Given the description of an element on the screen output the (x, y) to click on. 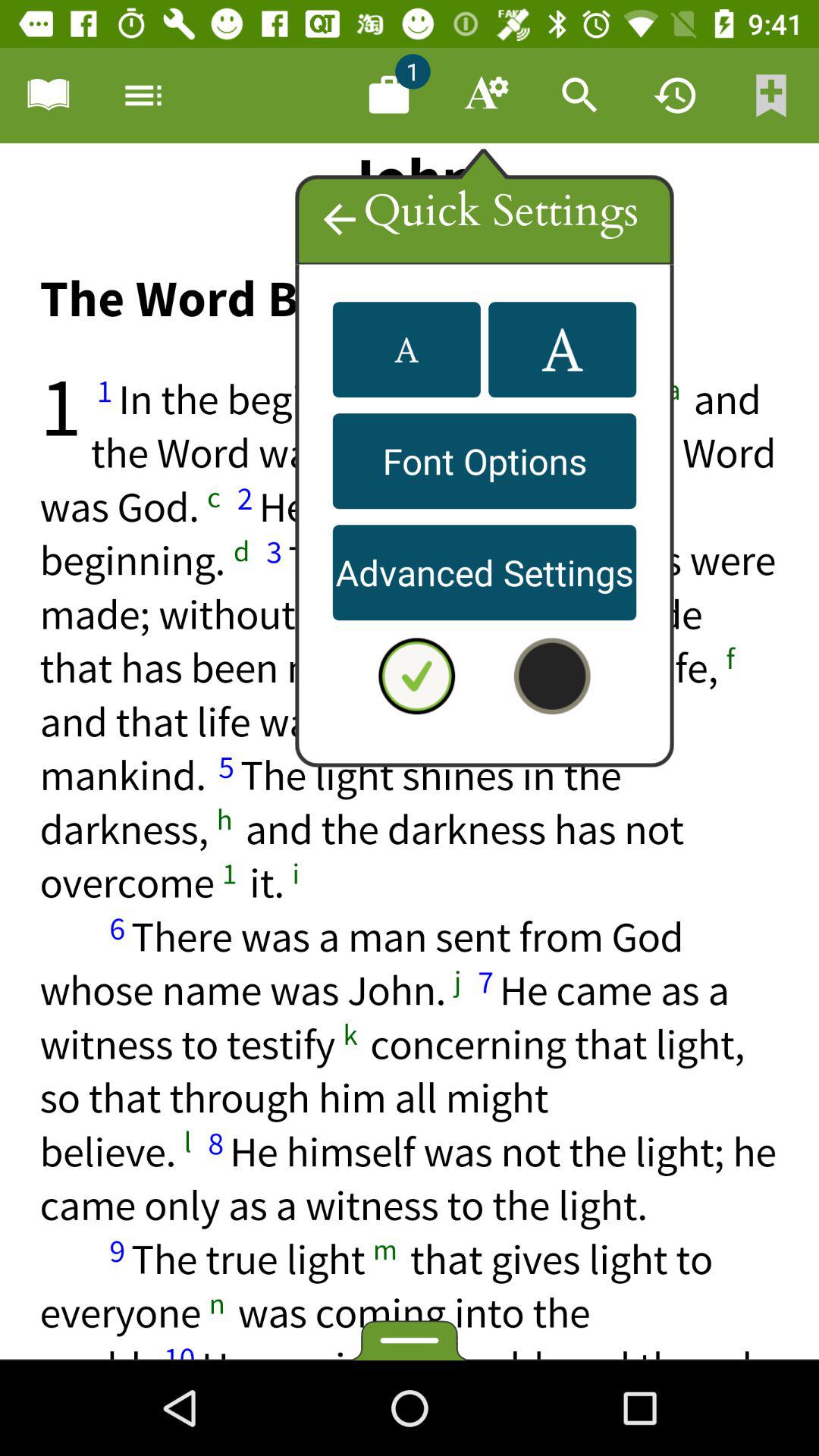
bookmark the current page (771, 95)
